Given the description of an element on the screen output the (x, y) to click on. 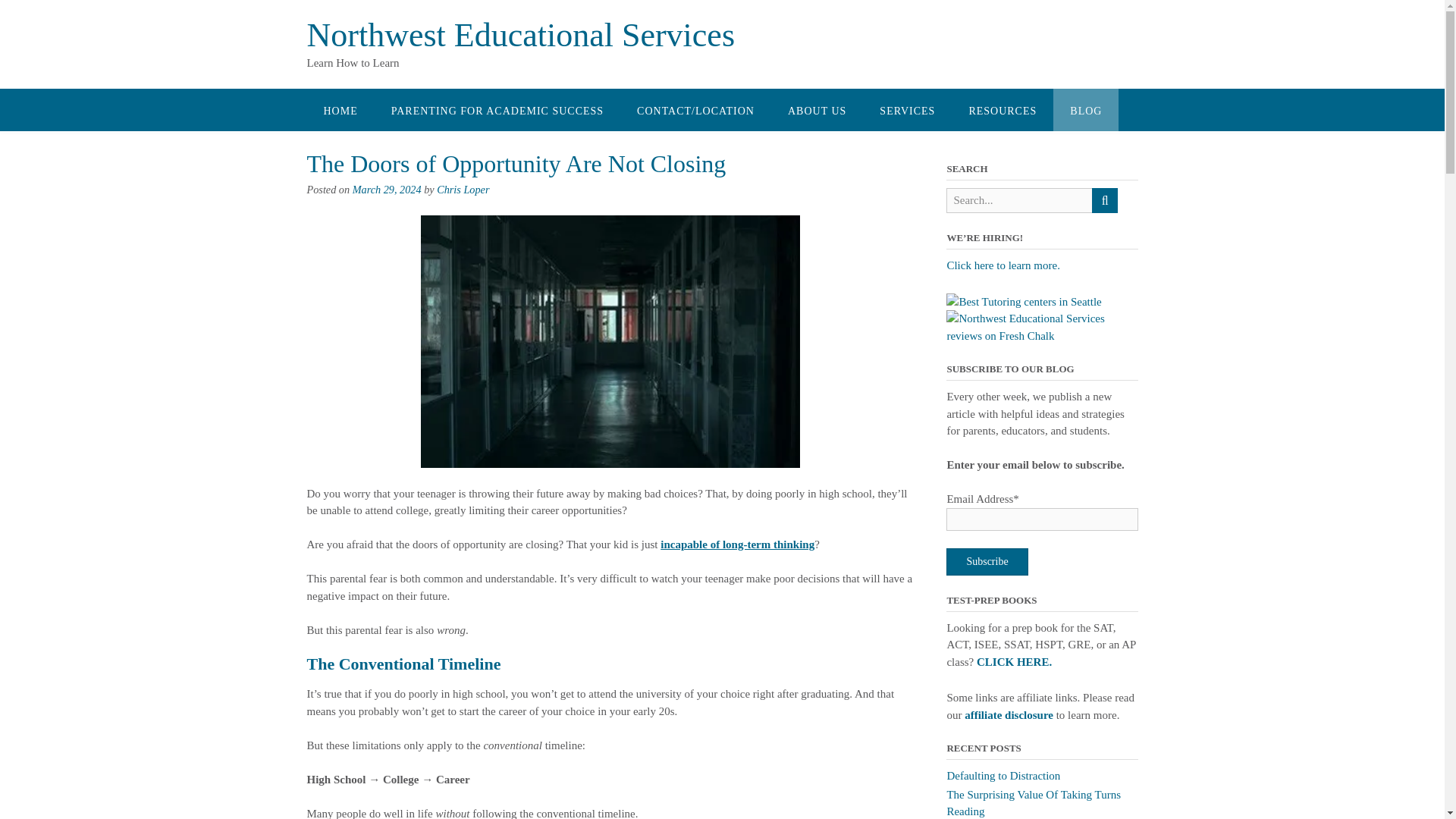
BLOG (1085, 109)
Search for: (1019, 200)
HOME (339, 109)
SERVICES (907, 109)
PARENTING FOR ACADEMIC SUCCESS (497, 109)
Subscribe (986, 560)
RESOURCES (1002, 109)
Northwest Educational Services (520, 35)
Northwest Educational Services (520, 35)
ABOUT US (817, 109)
